Given the description of an element on the screen output the (x, y) to click on. 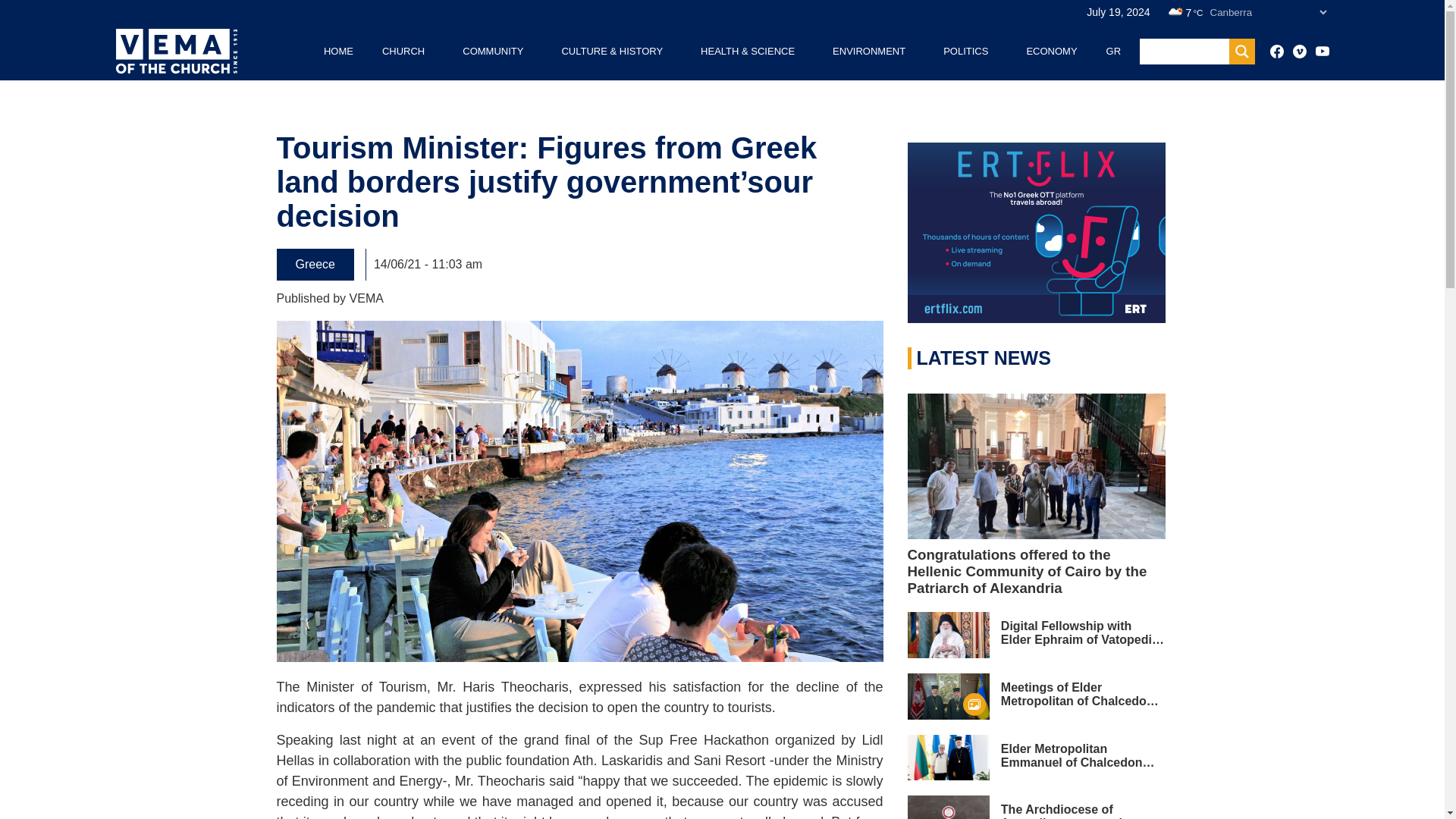
CHURCH (403, 51)
VEMA (366, 297)
POLITICS (965, 51)
ERTFLIX (1035, 232)
Greece (314, 264)
ECONOMY (1051, 51)
COMMUNITY (492, 51)
ENVIRONMENT (868, 51)
